Given the description of an element on the screen output the (x, y) to click on. 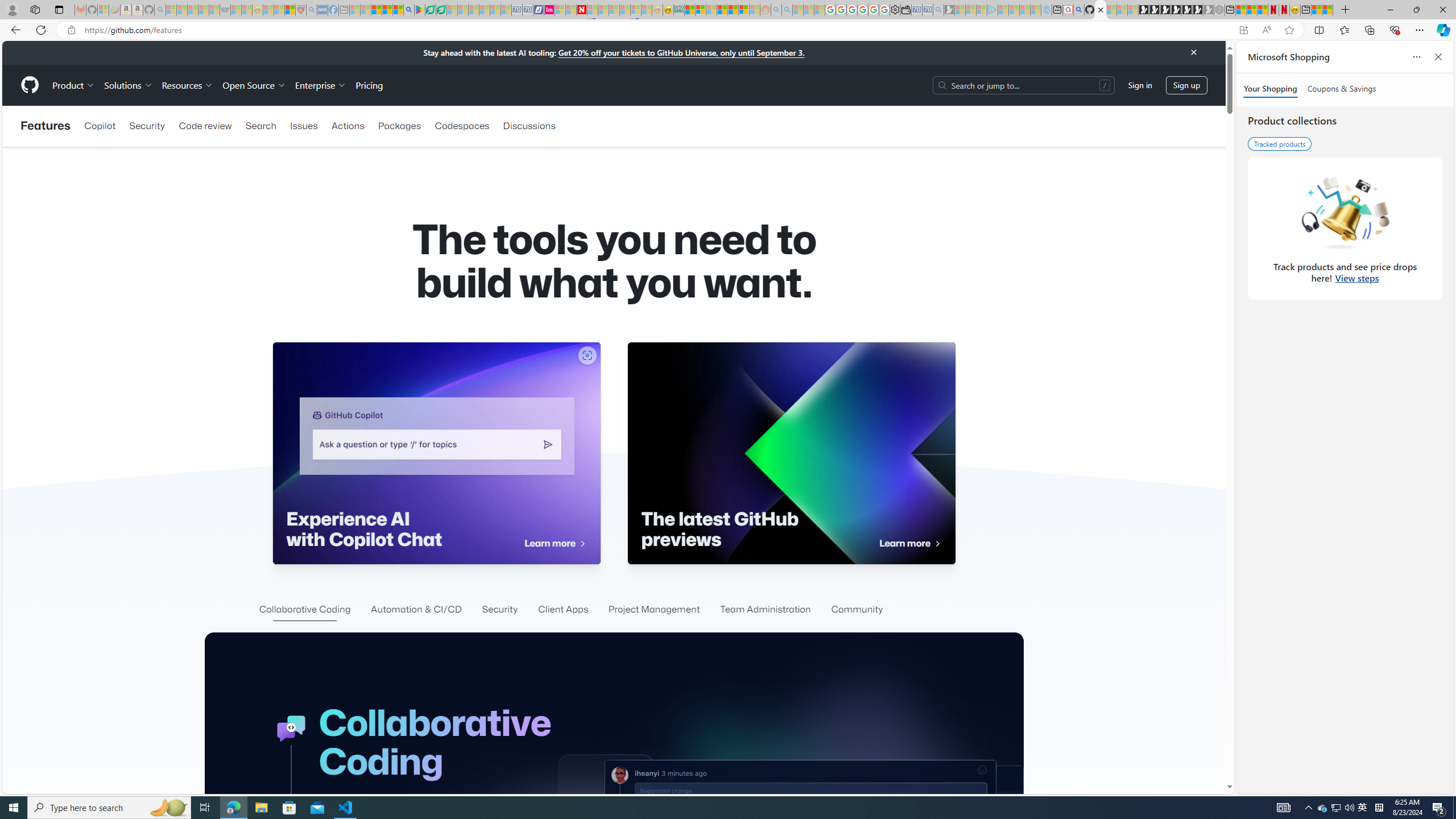
Copilot (100, 125)
Pricing (368, 84)
Experience AI with Copilot Chat Learn more  (435, 453)
Issues (303, 125)
Local - MSN (289, 9)
